Given the description of an element on the screen output the (x, y) to click on. 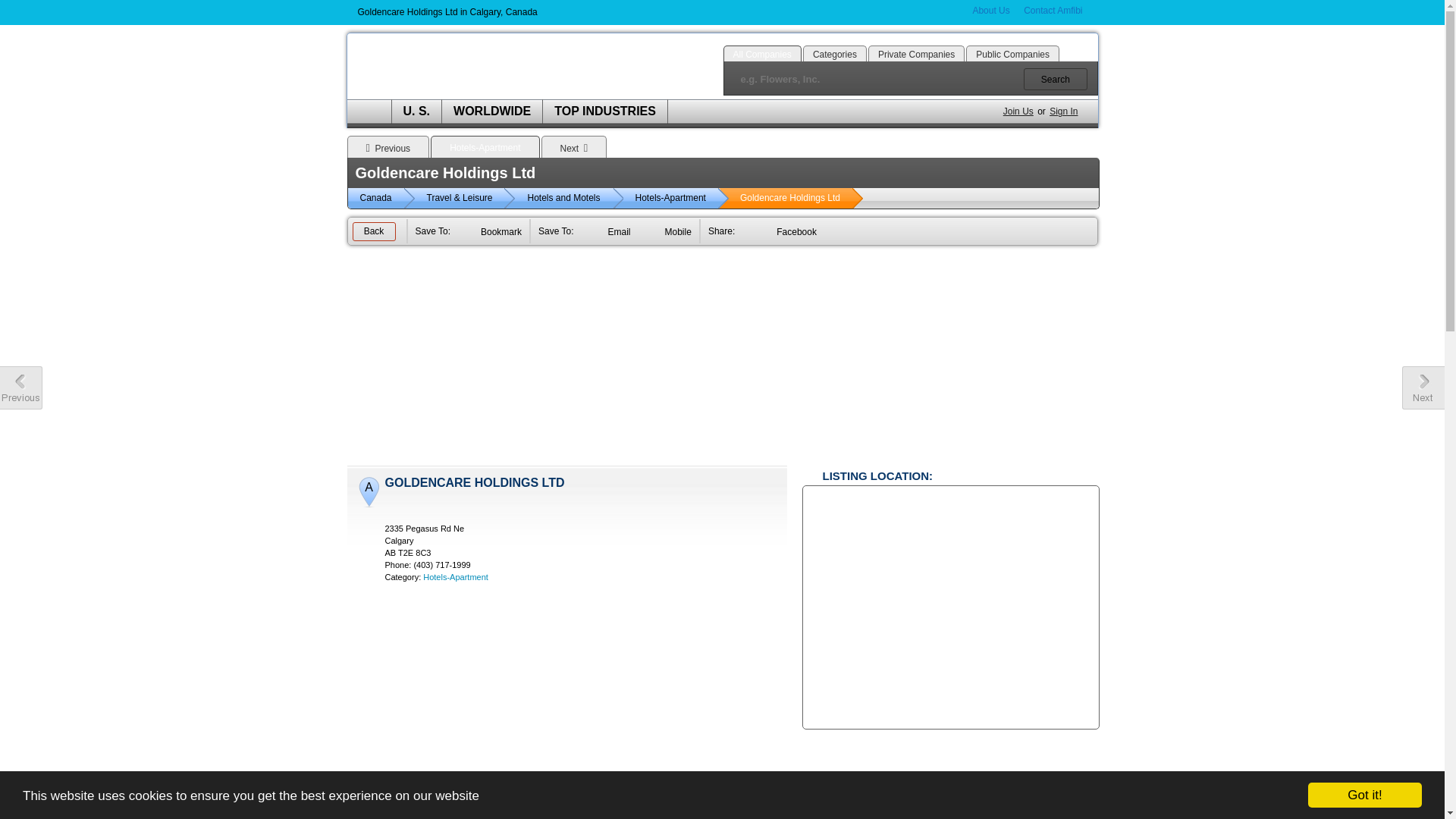
GOLDENCARE HOLDINGS LTD Element type: text (474, 482)
Got it! Element type: text (1364, 794)
Contact Amfibi Element type: text (1052, 10)
Sign In Element type: text (1063, 111)
Facebook Element type: text (784, 232)
Search Element type: text (1055, 79)
Hotels-Apartment Element type: text (675, 198)
Private Companies Element type: text (916, 53)
Previous company profile Element type: hover (21, 387)
Search1 Element type: hover (1055, 79)
All Companies Element type: text (762, 53)
Facebook Element type: text (572, 11)
Back to Top Element type: hover (1423, 793)
Bookmark Element type: text (489, 232)
Public Companies Element type: text (1012, 53)
Hotels-Apartment Element type: text (455, 576)
About Us Element type: text (990, 10)
Google Plus Element type: text (607, 11)
Hotels-Apartment Element type: text (484, 147)
Canada Element type: text (380, 198)
Email Element type: text (607, 232)
Categories Element type: text (834, 53)
HOME Element type: text (369, 111)
Twitter Element type: text (589, 11)
Advertisement Element type: hover (722, 359)
TOP INDUSTRIES Element type: text (604, 111)
Back Element type: text (373, 231)
U. S. Element type: text (416, 111)
Next company profile Element type: hover (1423, 387)
Amfibi Element type: text (479, 66)
Join Us Element type: text (1018, 111)
Mobile Element type: text (666, 232)
WORLDWIDE Element type: text (492, 111)
Hotels and Motels Element type: text (568, 198)
Linkedin Element type: text (554, 11)
Travel & Leisure Element type: text (464, 198)
